Given the description of an element on the screen output the (x, y) to click on. 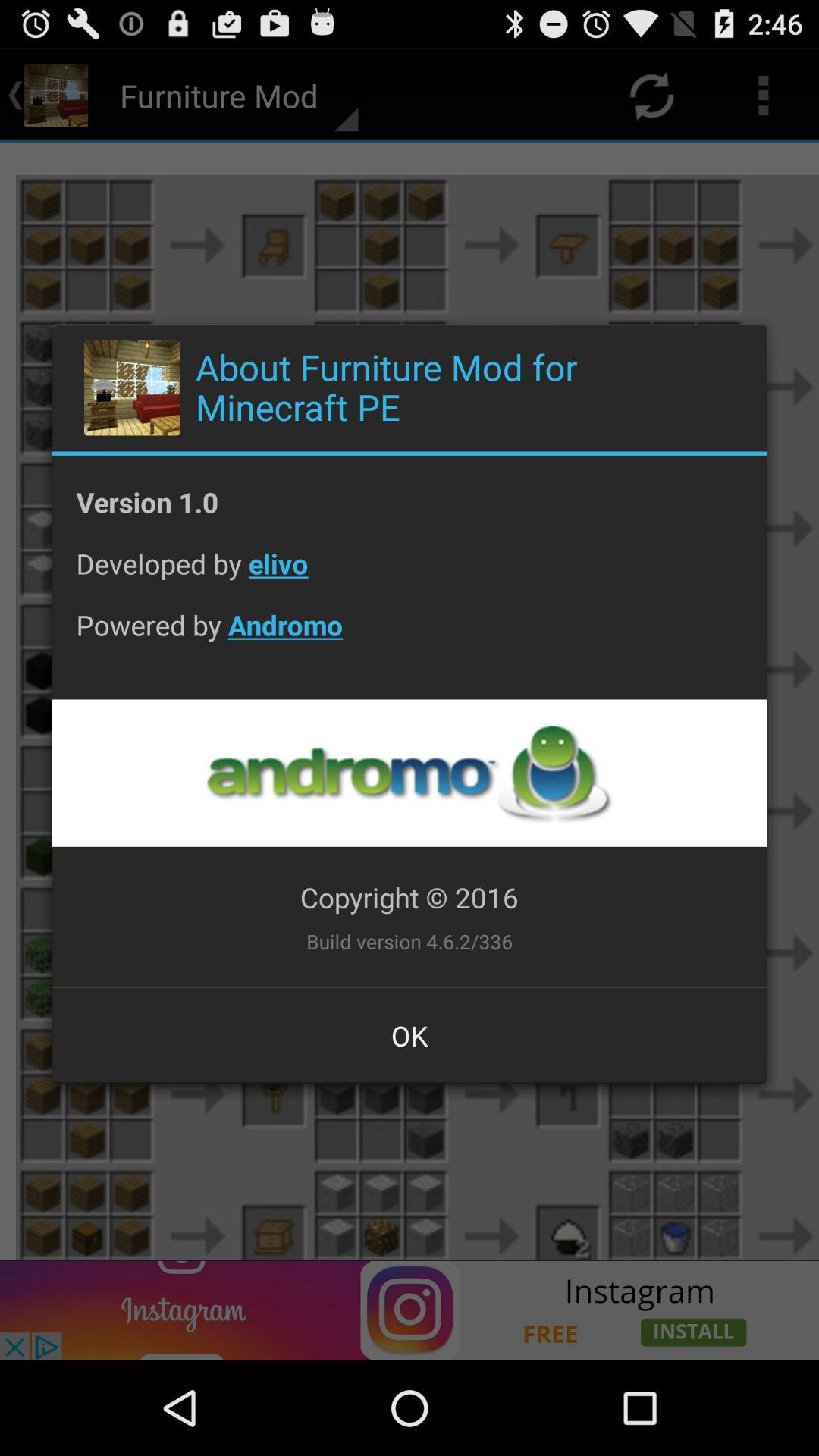
tap the icon at the bottom (409, 1035)
